Given the description of an element on the screen output the (x, y) to click on. 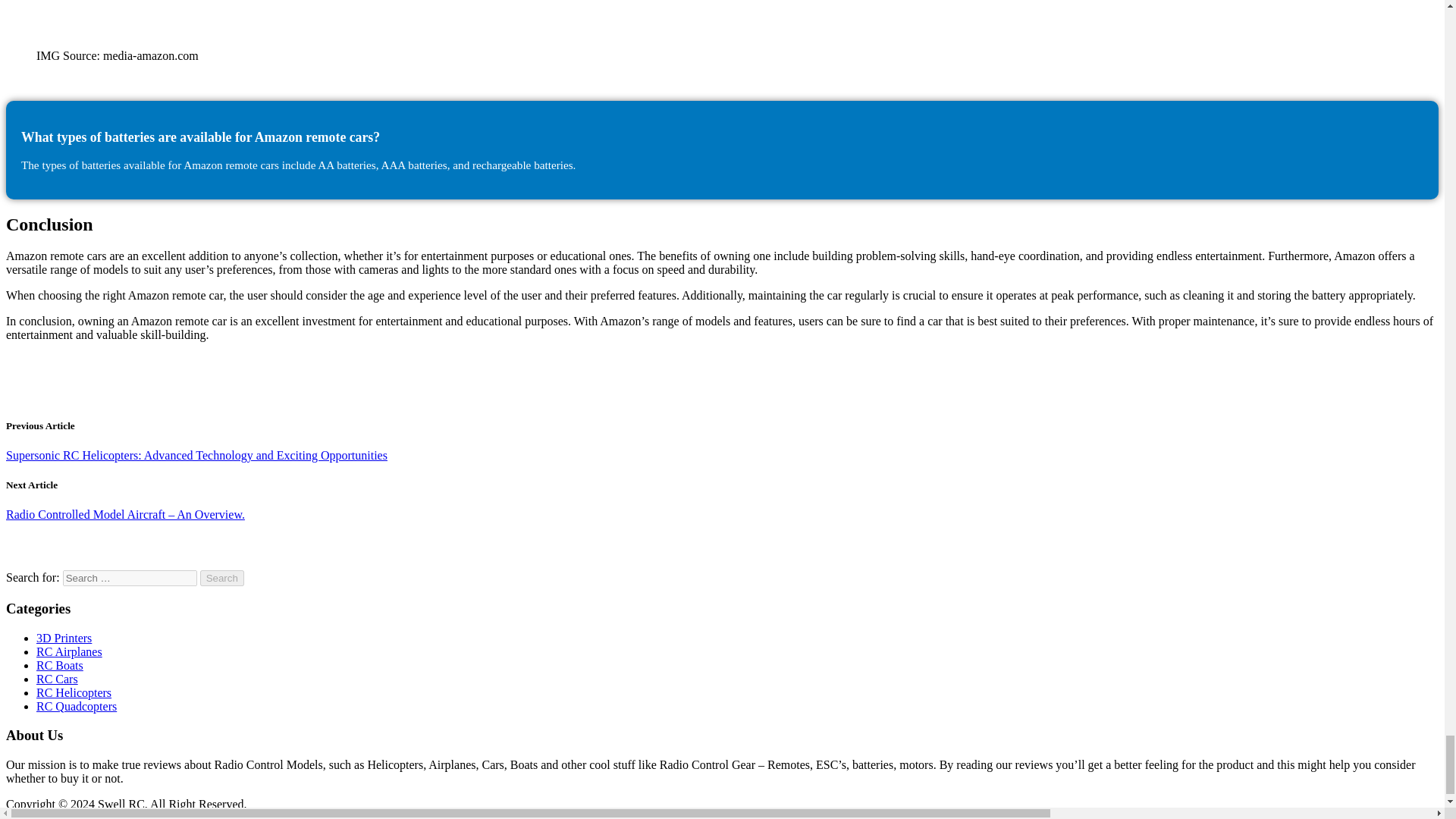
RC Quadcopters (76, 706)
Search (222, 578)
RC Helicopters (74, 692)
3D Printers (63, 637)
RC Boats (59, 665)
Search (222, 578)
RC Airplanes (68, 651)
Search (222, 578)
RC Cars (57, 678)
